Given the description of an element on the screen output the (x, y) to click on. 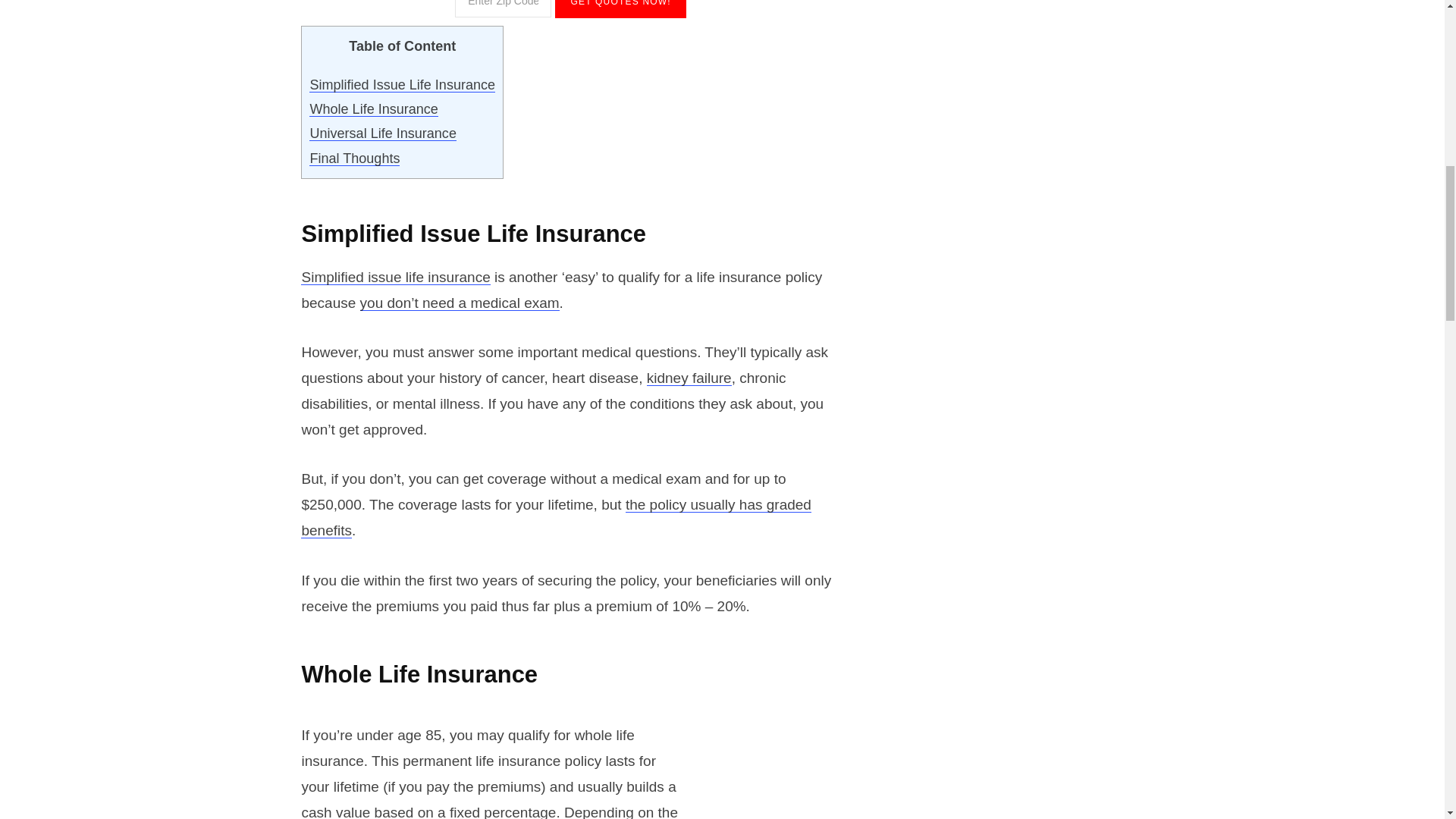
Universal Life Insurance (381, 133)
Get Quotes Now! (619, 9)
Simplified Issue Life Insurance (401, 84)
the policy usually has graded benefits (555, 517)
Simplified issue life insurance (395, 277)
Whole Life Insurance (373, 109)
Get Quotes Now! (619, 9)
kidney failure (689, 377)
Final Thoughts (353, 158)
